Given the description of an element on the screen output the (x, y) to click on. 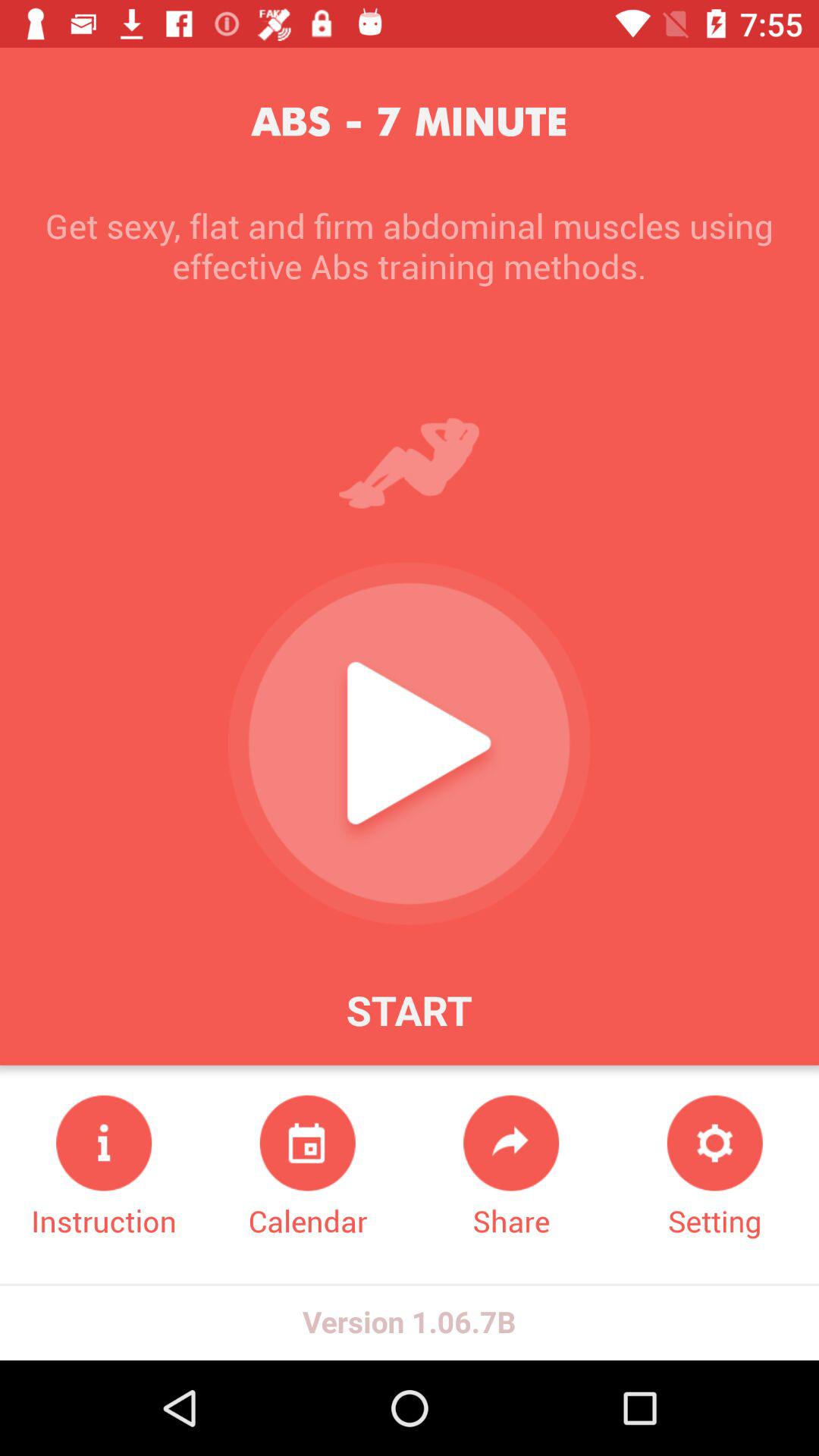
select the item to the right of the calendar (511, 1168)
